Given the description of an element on the screen output the (x, y) to click on. 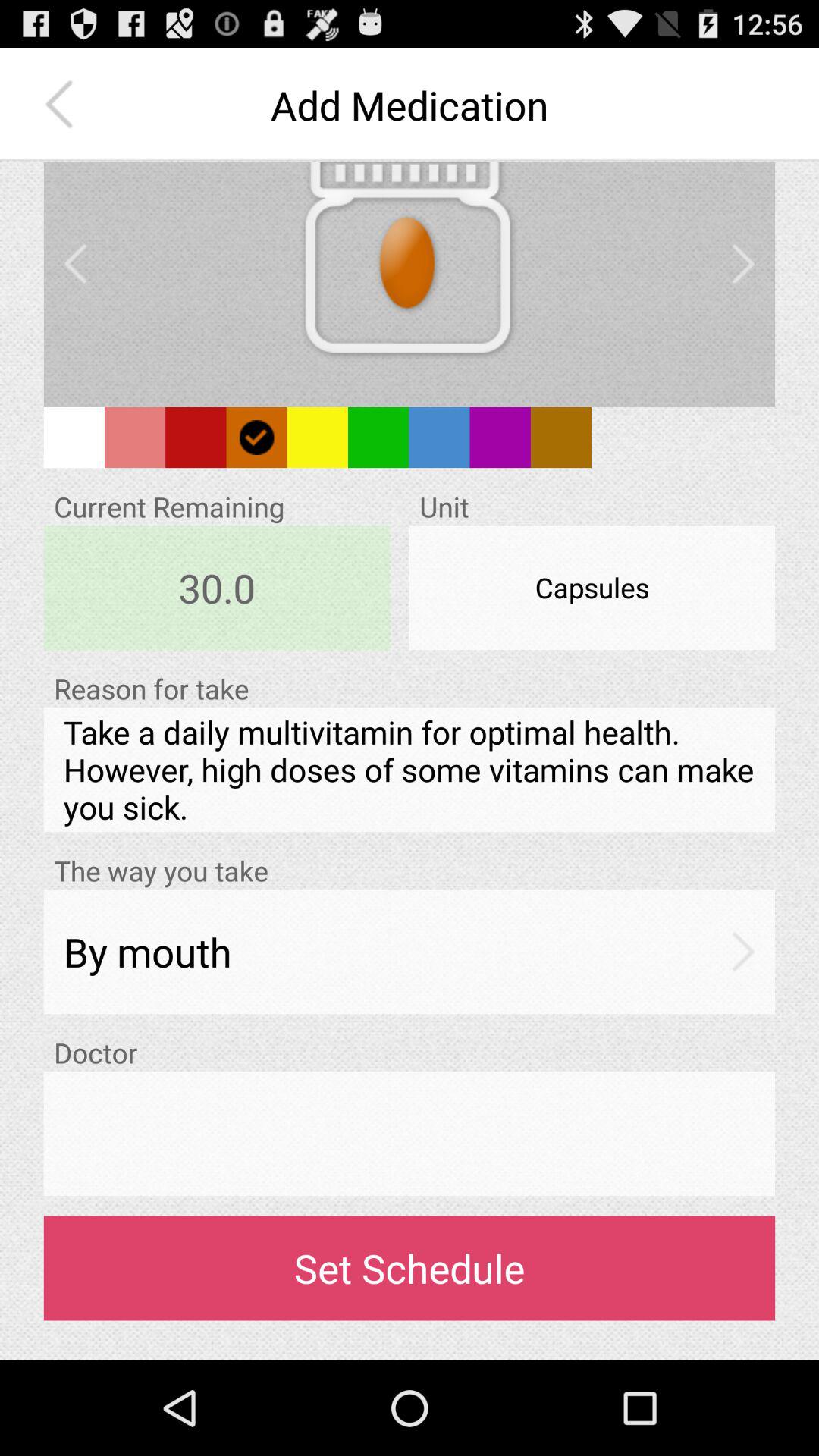
click on the bottom button (409, 1267)
click on tick mark (256, 437)
click on the button above doctor (409, 951)
click the button below the unit on the web page (591, 587)
tap on the blue colored box shown above unit (439, 437)
click on the label shown below add medication (408, 272)
click the button on the left to first image on the web page (75, 263)
